Given the description of an element on the screen output the (x, y) to click on. 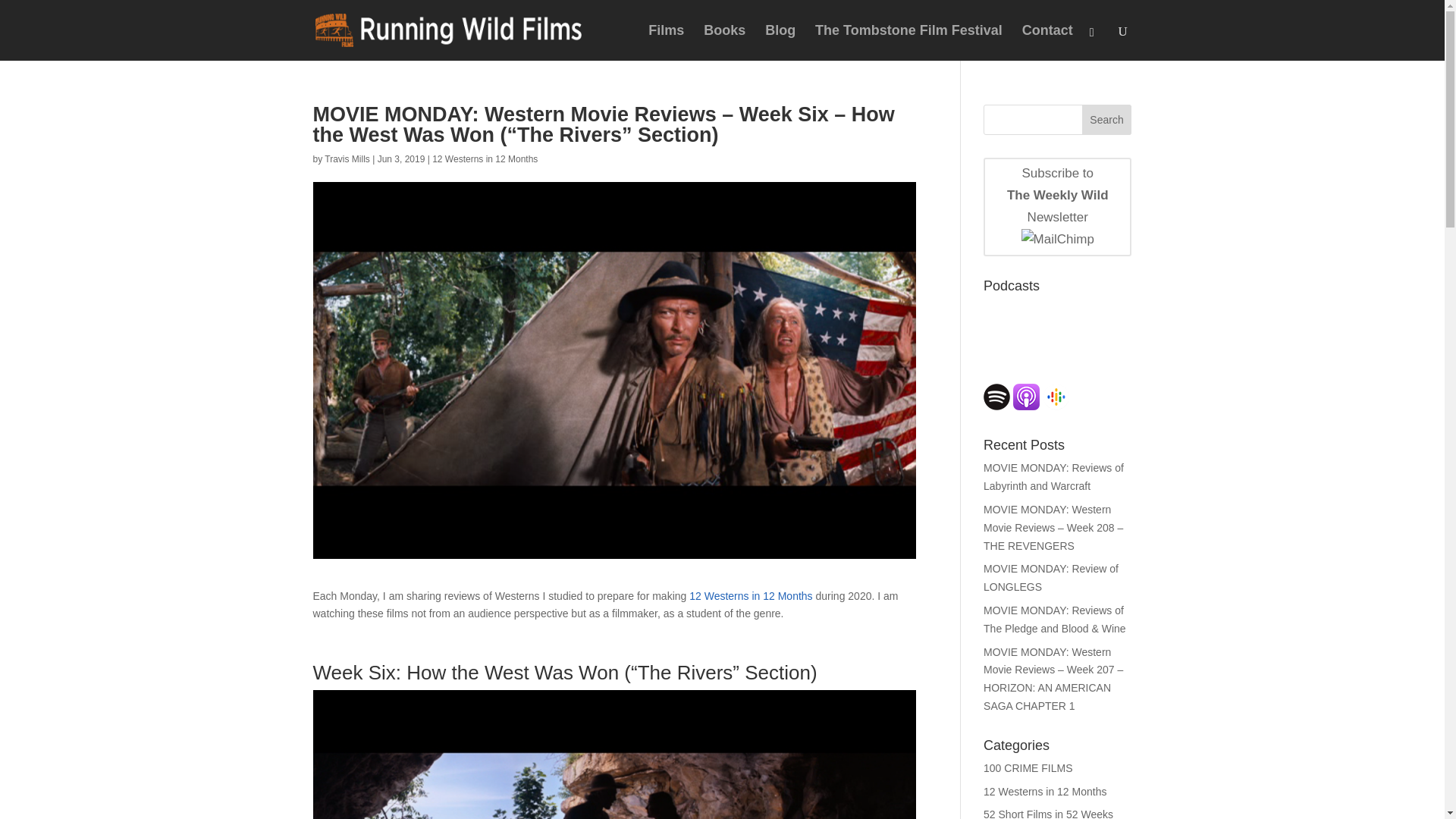
52 Short Films in 52 Weeks (1048, 813)
Contact (1047, 42)
100 CRIME FILMS (1027, 767)
Travis Mills (346, 158)
Posts by Travis Mills (346, 158)
Search (1106, 119)
Films (1057, 207)
The Tombstone Film Festival (665, 42)
Books (909, 42)
